Given the description of an element on the screen output the (x, y) to click on. 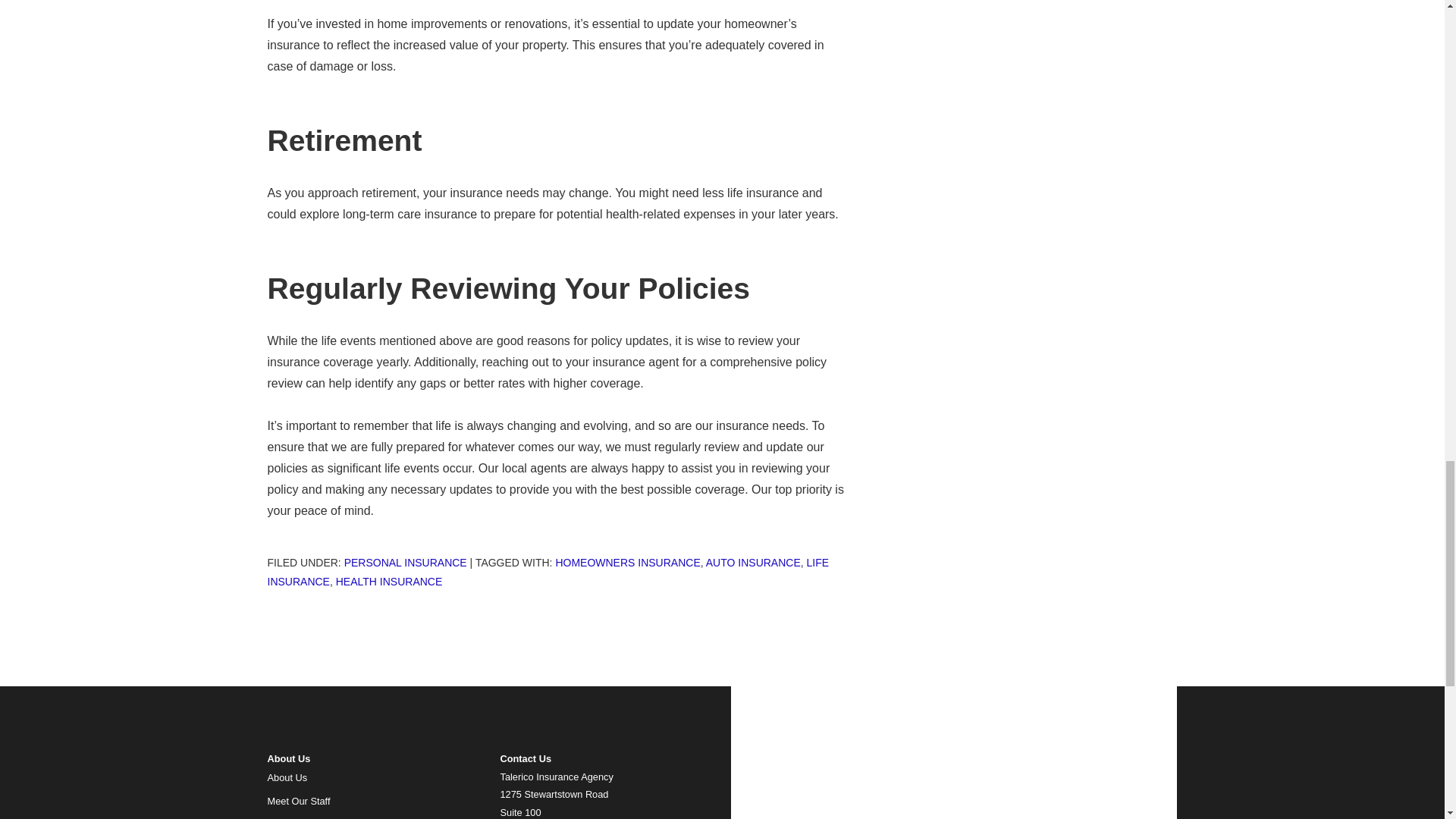
Homeowners Insurance (627, 562)
Auto Insurance (753, 562)
Life Insurance (547, 572)
Health Insurance (389, 581)
Personal Insurance (405, 562)
